Given the description of an element on the screen output the (x, y) to click on. 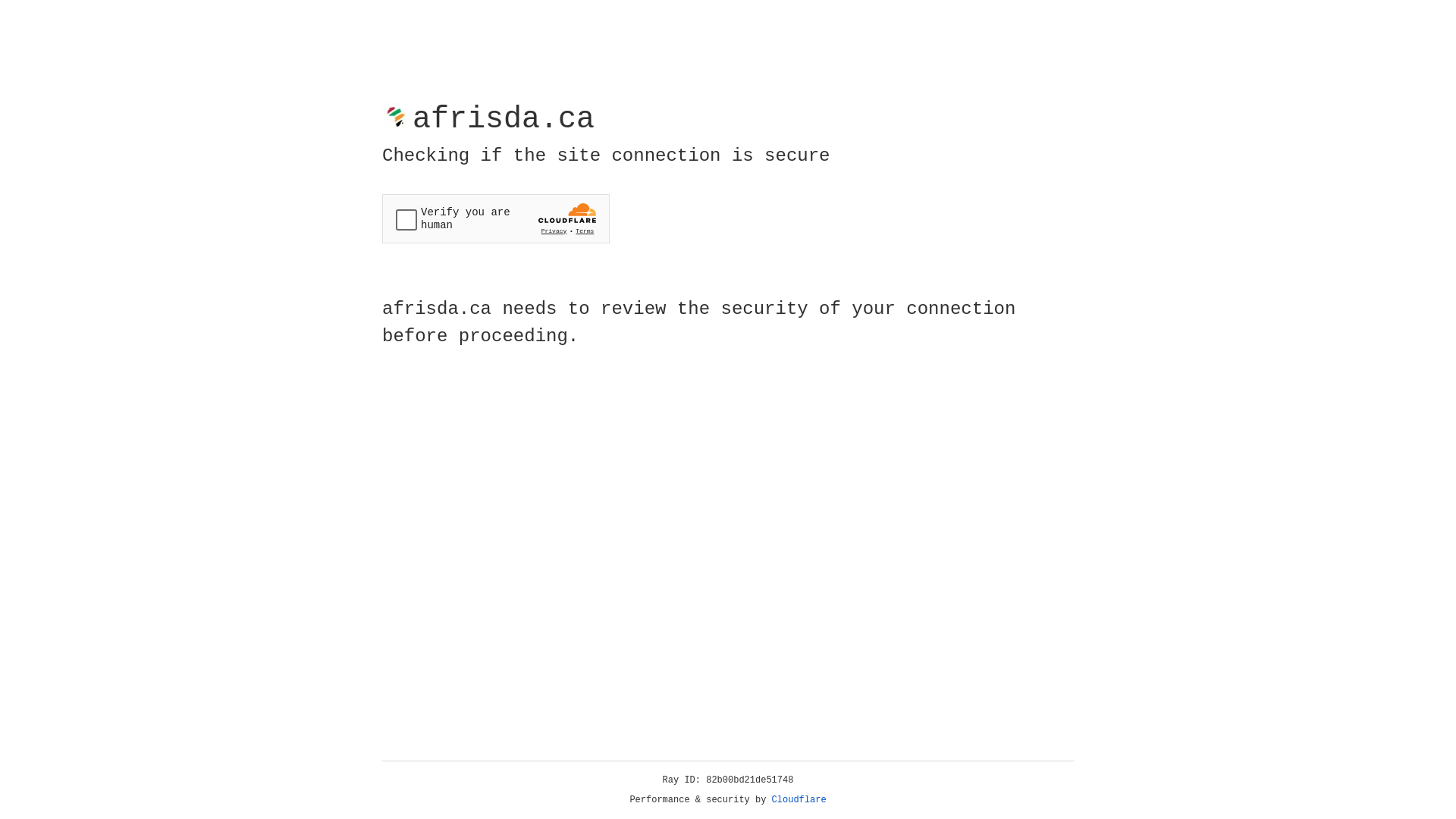
Widget containing a Cloudflare security challenge Element type: hover (495, 218)
Cloudflare Element type: text (798, 799)
